Given the description of an element on the screen output the (x, y) to click on. 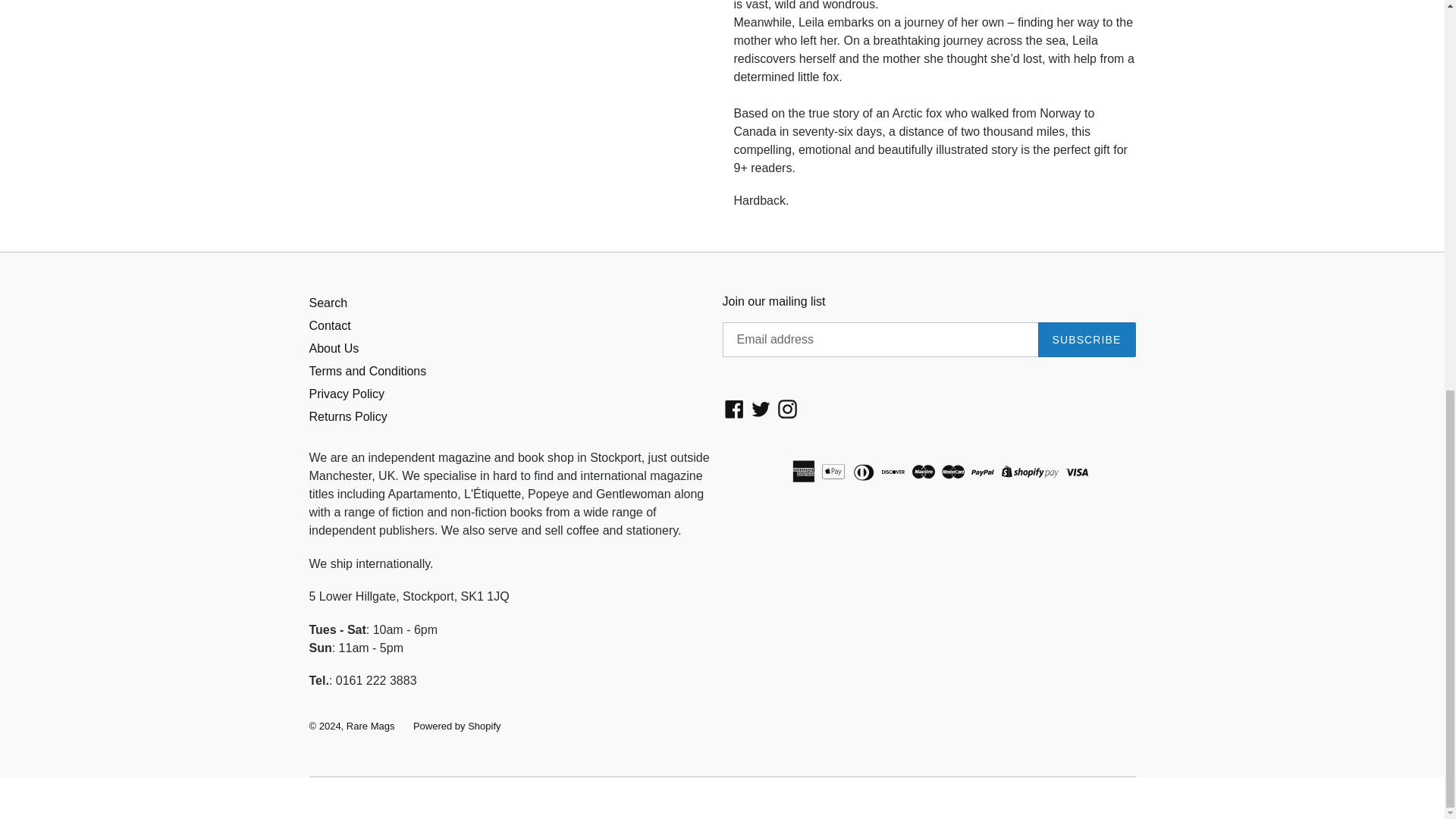
Rare Mags on Facebook (733, 407)
Rare Mags on Twitter (761, 407)
Rare Mags on Instagram (787, 407)
